Given the description of an element on the screen output the (x, y) to click on. 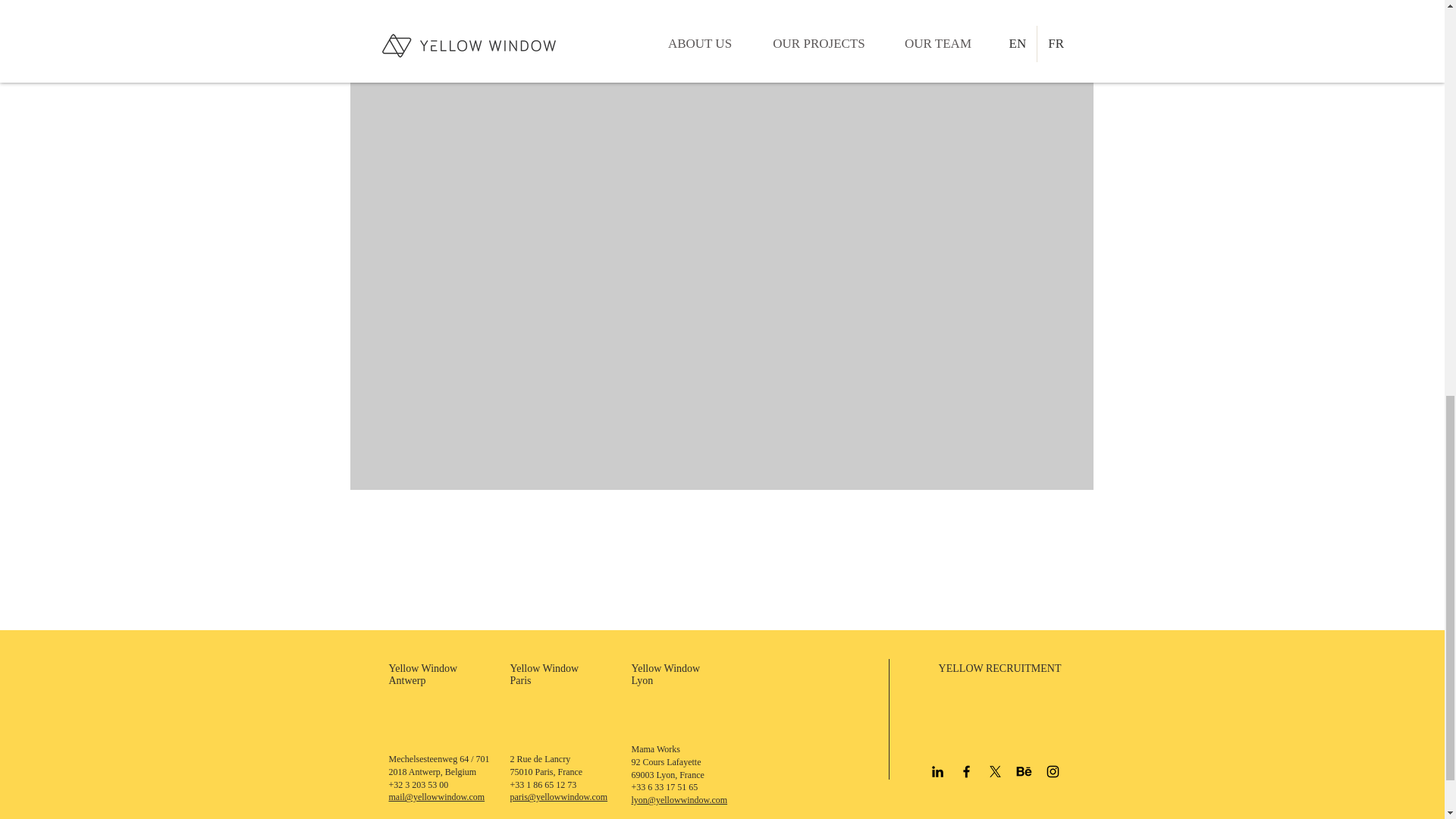
2 Rue de Lancry (539, 758)
YELLOW RECRUITMENT (1000, 668)
92 Cours Lafayette (665, 761)
